Given the description of an element on the screen output the (x, y) to click on. 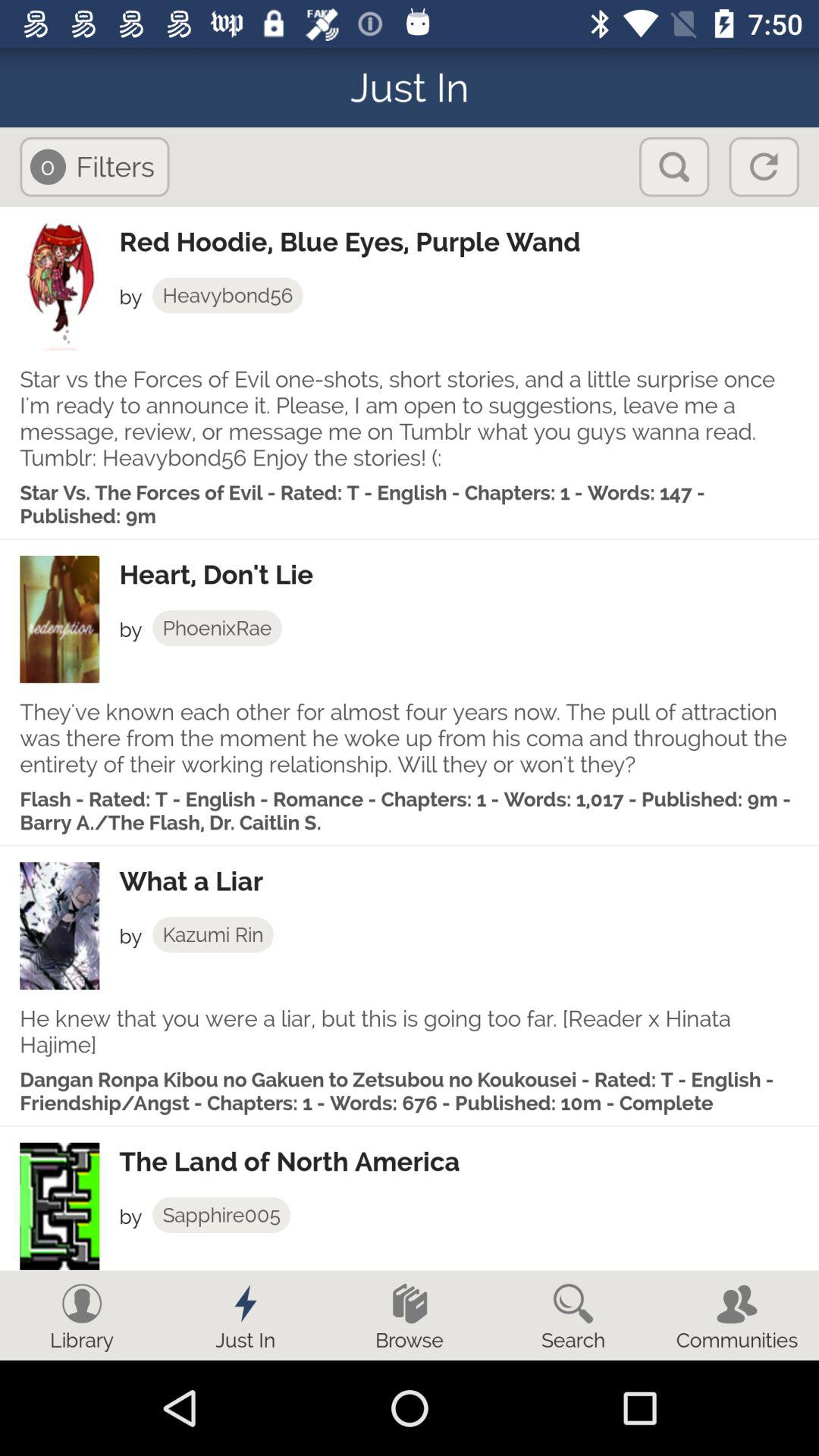
tap the icon above they ve known (217, 628)
